Given the description of an element on the screen output the (x, y) to click on. 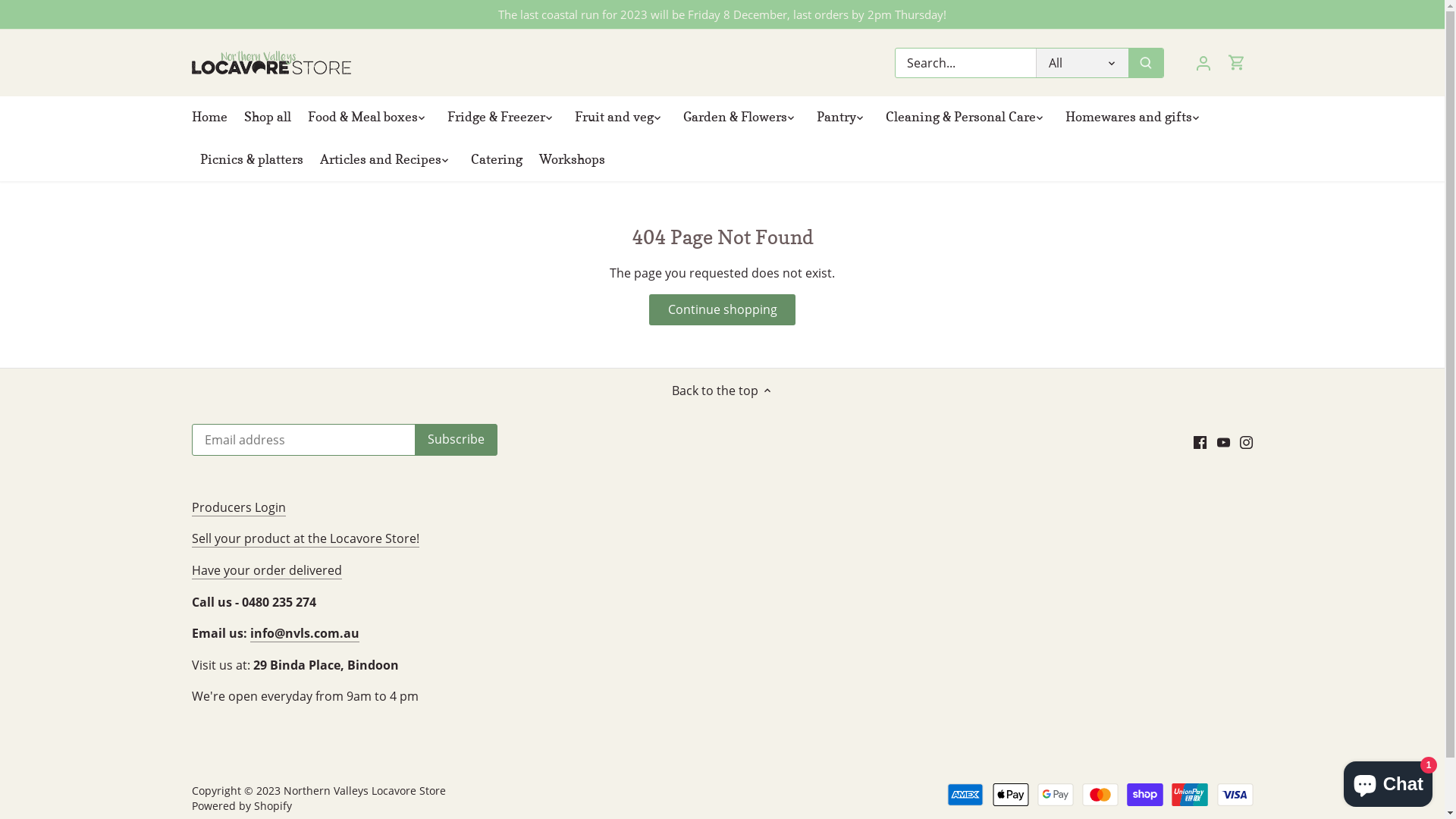
Food & Meal boxes Element type: text (361, 117)
Shop all Element type: text (266, 117)
Workshops Element type: text (571, 159)
Shopify online store chat Element type: hover (1388, 780)
Back to the top Element type: text (722, 389)
Instagram Element type: text (1245, 440)
Have your order delivered Element type: text (266, 570)
Northern Valleys Locavore Store Element type: text (364, 790)
Fruit and veg Element type: text (613, 117)
Subscribe Element type: text (455, 439)
Cleaning & Personal Care Element type: text (959, 117)
Fridge & Freezer Element type: text (495, 117)
Catering Element type: text (496, 159)
Facebook Element type: text (1199, 440)
Powered by Shopify Element type: text (241, 805)
Pantry Element type: text (836, 117)
Articles and Recipes Element type: text (379, 159)
Producers Login Element type: text (238, 507)
Continue shopping Element type: text (722, 309)
Sell your product at the Locavore Store! Element type: text (304, 538)
Homewares and gifts Element type: text (1128, 117)
Youtube Element type: text (1223, 440)
info@nvls.com.au Element type: text (304, 633)
Garden & Flowers Element type: text (734, 117)
Picnics & platters Element type: text (250, 159)
Home Element type: text (213, 117)
